Given the description of an element on the screen output the (x, y) to click on. 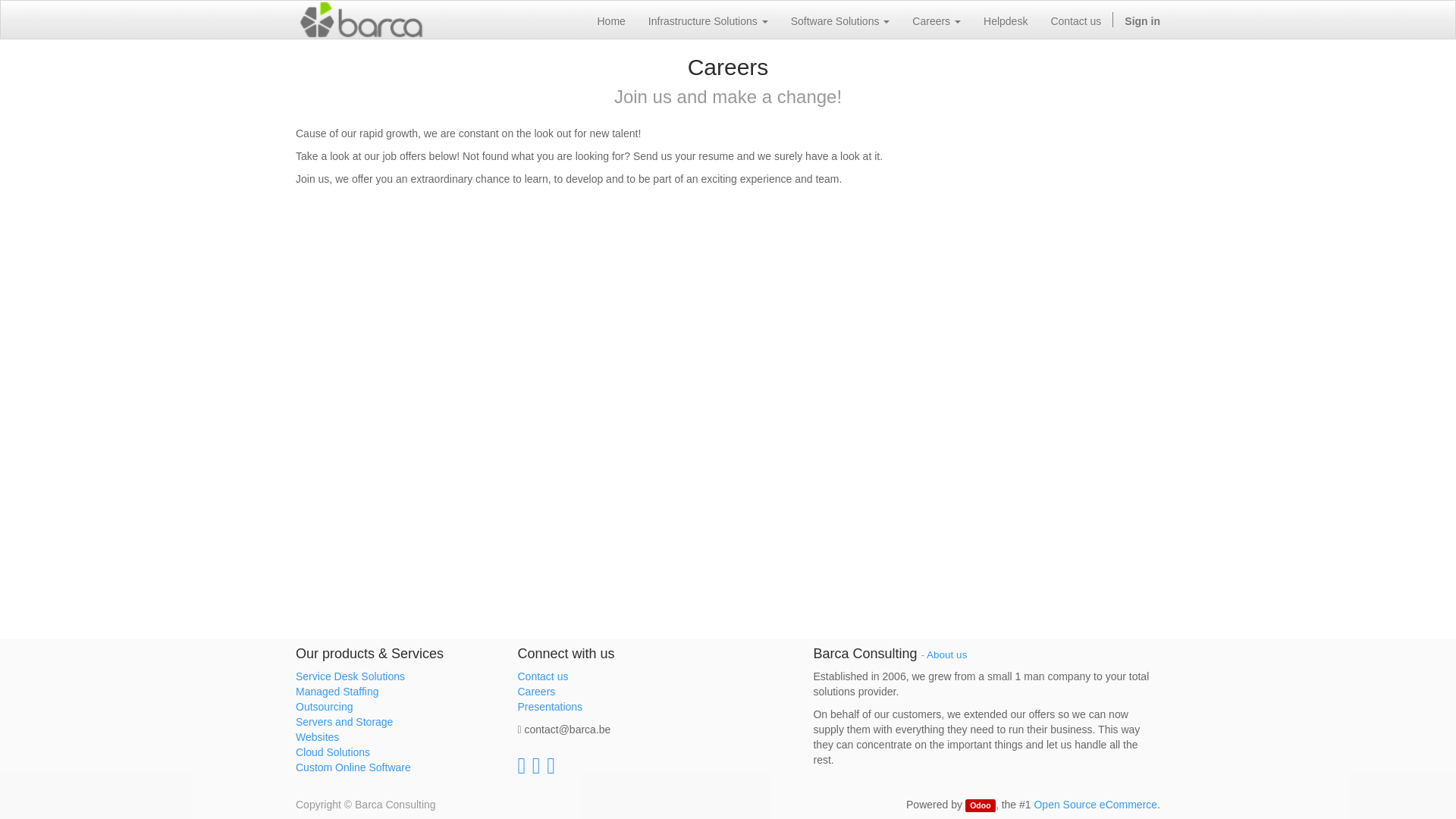
Odoo (980, 805)
Custom Online Software (352, 767)
Infrastructure Solutions (707, 19)
Careers (936, 19)
Sign in (1142, 19)
Software Solutions (839, 19)
Home (610, 19)
About us (946, 654)
Cloud Solutions (332, 752)
Careers (535, 691)
Contact us (1075, 19)
Websites (317, 736)
Barca Consulting (360, 19)
Servers and Storage (344, 721)
Open Source eCommerce (1095, 804)
